Given the description of an element on the screen output the (x, y) to click on. 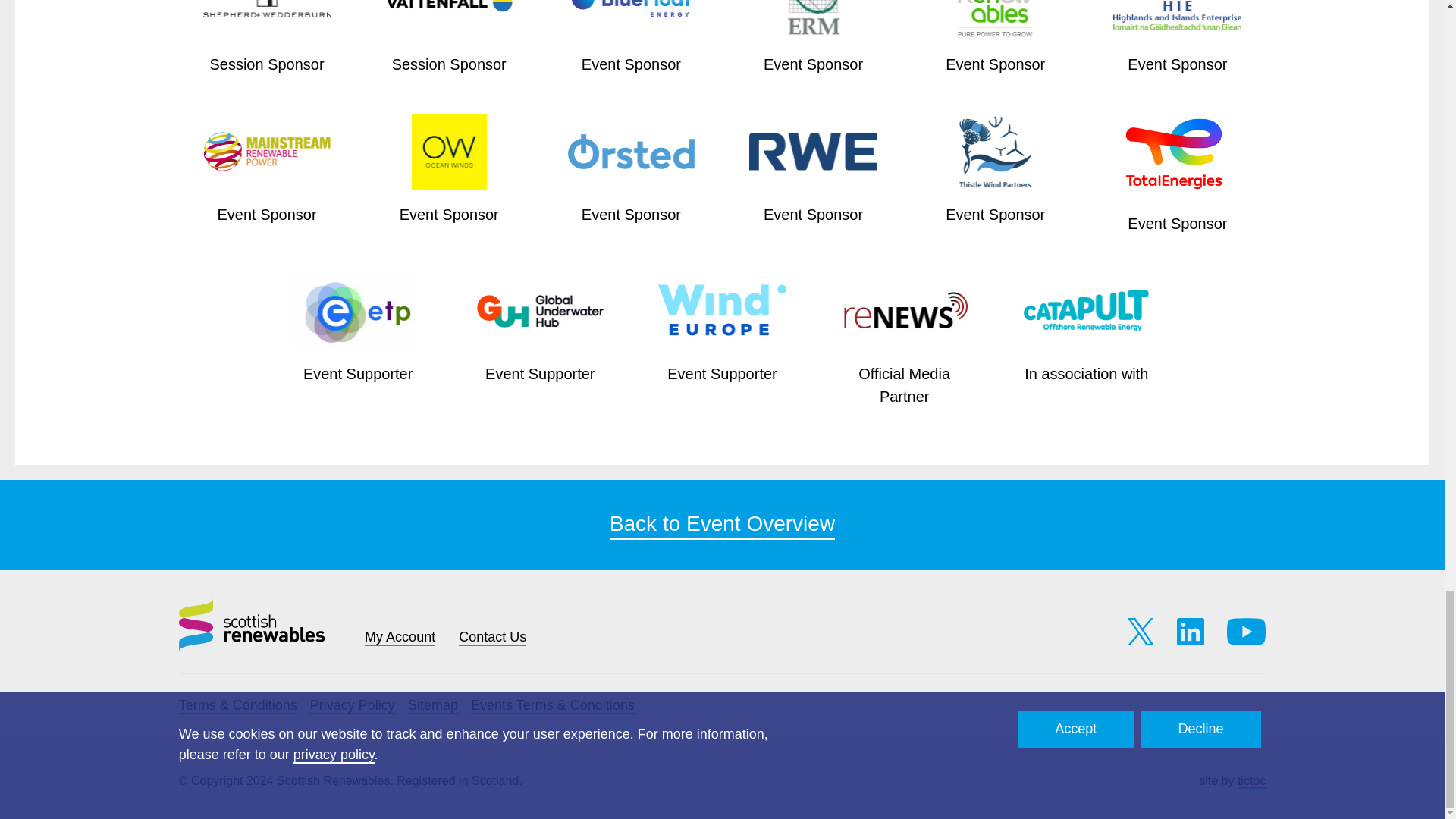
Vattenfall (449, 20)
